Given the description of an element on the screen output the (x, y) to click on. 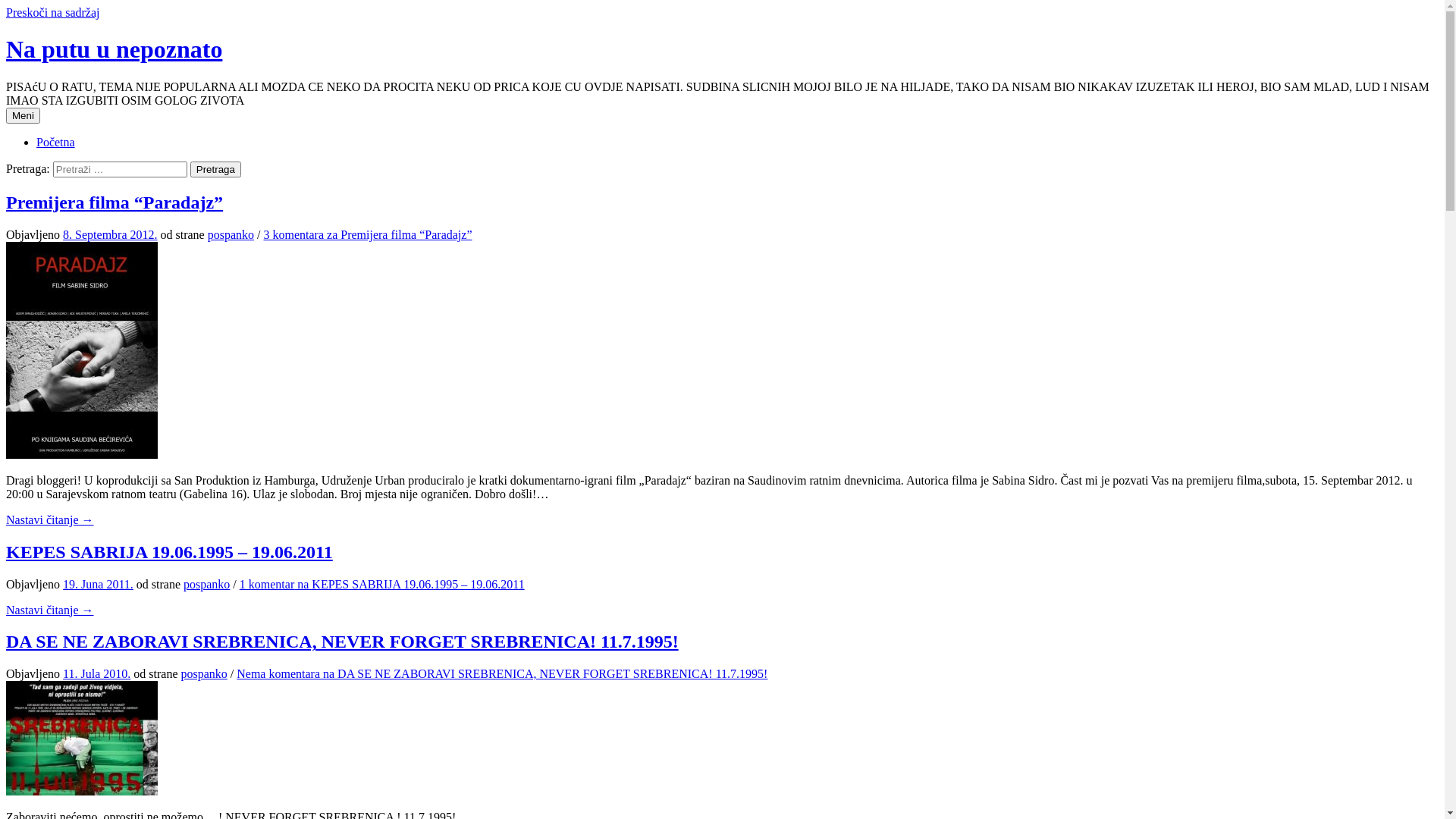
pospanko Element type: text (230, 234)
pospanko Element type: text (203, 673)
19. Juna 2011. Element type: text (97, 583)
8. Septembra 2012. Element type: text (109, 234)
pospanko Element type: text (206, 583)
Na putu u nepoznato Element type: text (114, 48)
11. Jula 2010. Element type: text (96, 673)
Pretraga Element type: text (215, 169)
Meni Element type: text (23, 115)
